Given the description of an element on the screen output the (x, y) to click on. 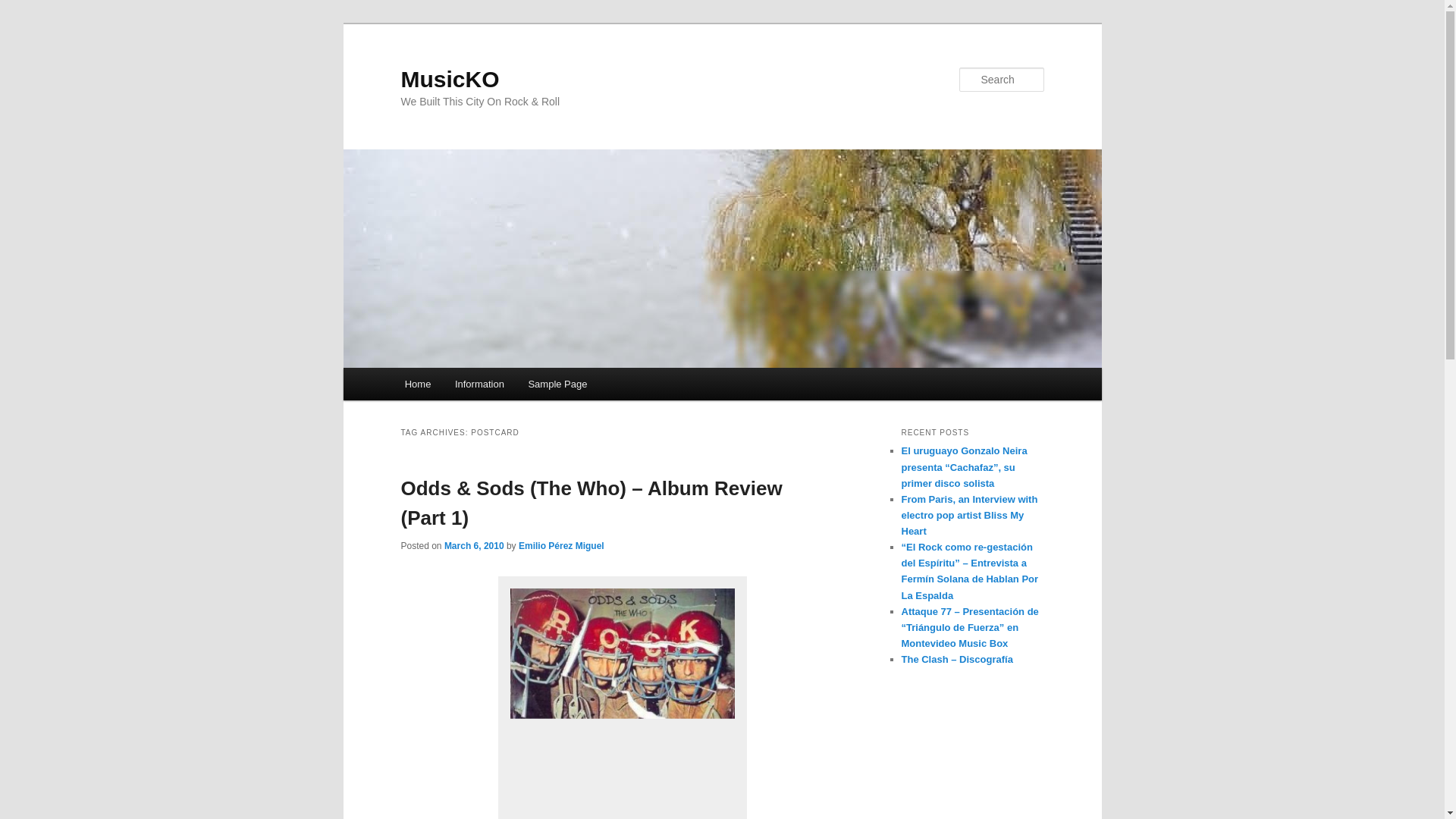
Search (24, 8)
March 6, 2010 (473, 545)
MusicKO (449, 78)
Home (417, 383)
Information (479, 383)
10:04 am (473, 545)
Sample Page (557, 383)
